Given the description of an element on the screen output the (x, y) to click on. 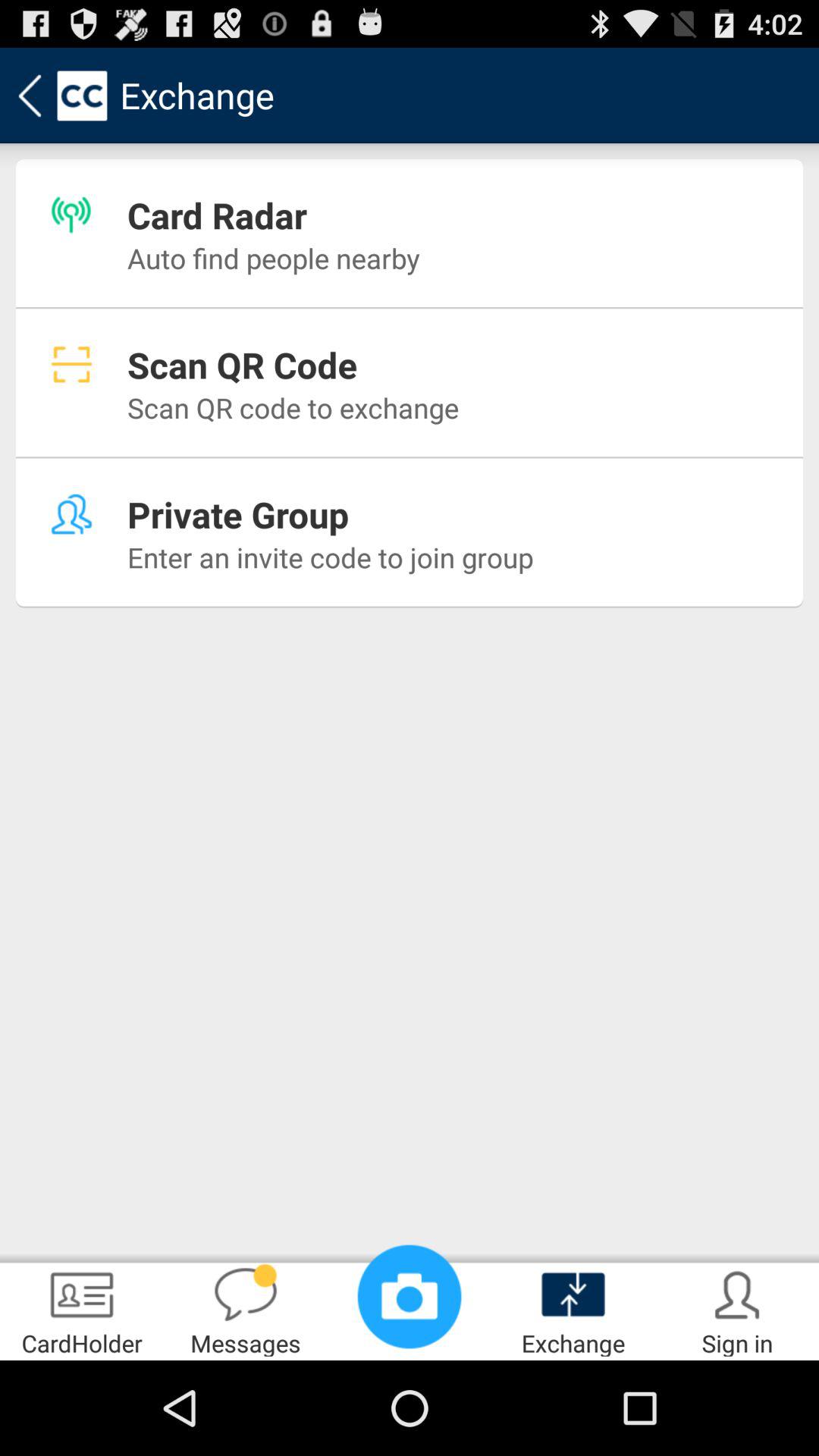
select the icon to the right of the messages icon (409, 1296)
